Given the description of an element on the screen output the (x, y) to click on. 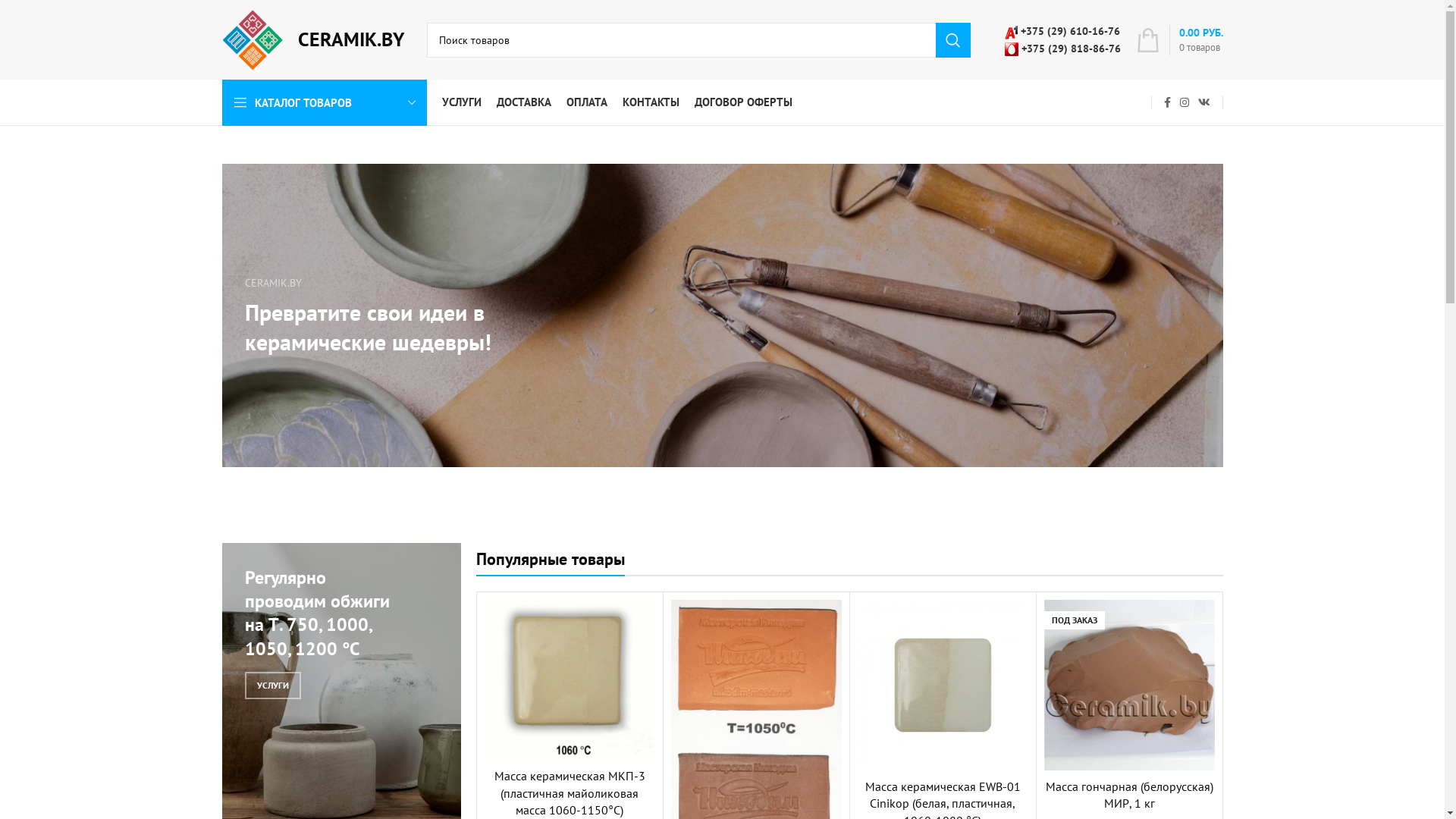
+375 (29) 610-16-76 Element type: text (1061, 30)
+375 (29) 610-16-76
+375 (29) 818-86-76 Element type: text (1062, 39)
+375 (29) 818-86-76 Element type: text (1062, 47)
SEARCH Element type: text (952, 39)
